Given the description of an element on the screen output the (x, y) to click on. 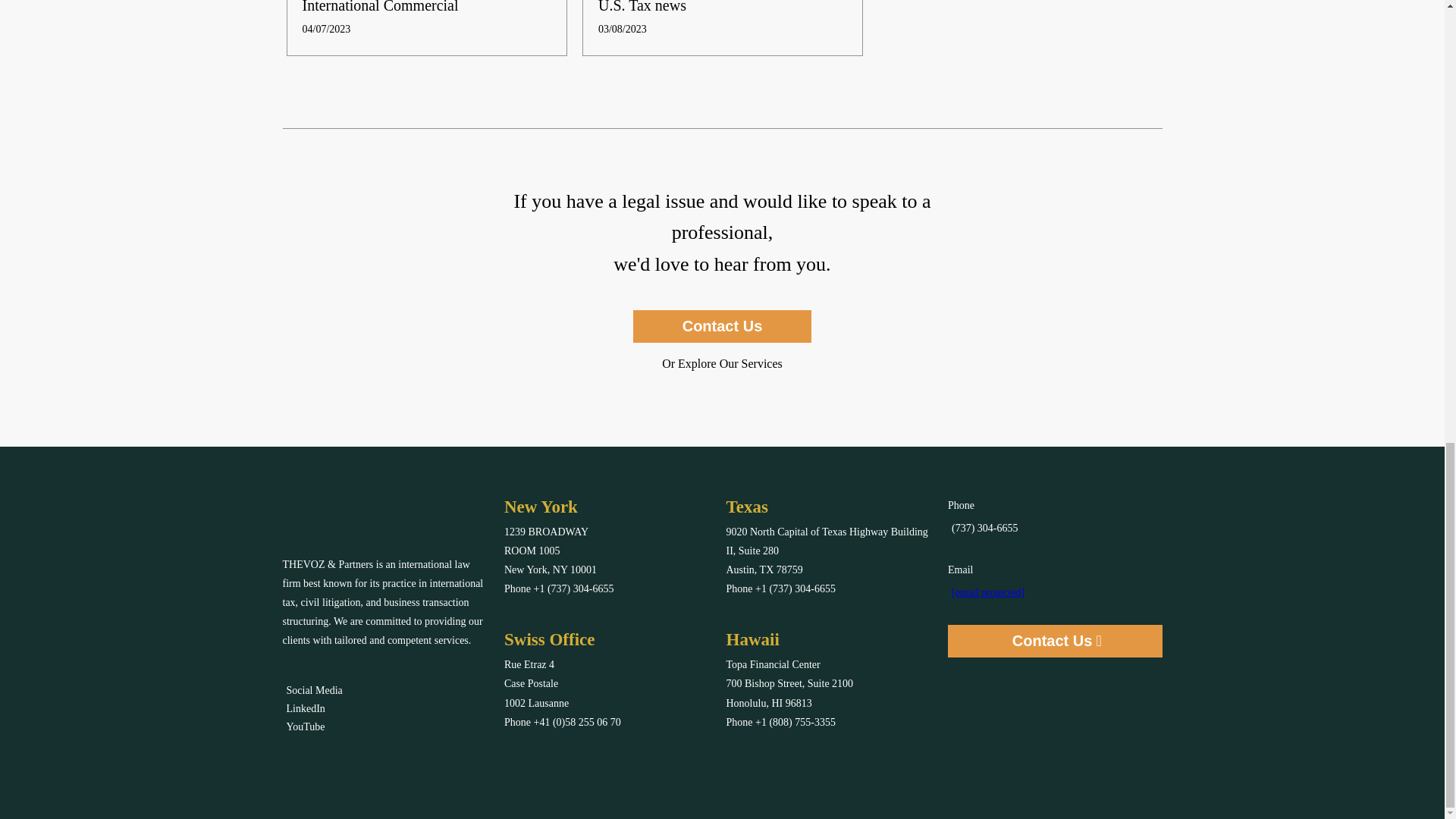
Contact Us (722, 326)
International Commercial (379, 6)
U.S. Tax news (641, 6)
